Given the description of an element on the screen output the (x, y) to click on. 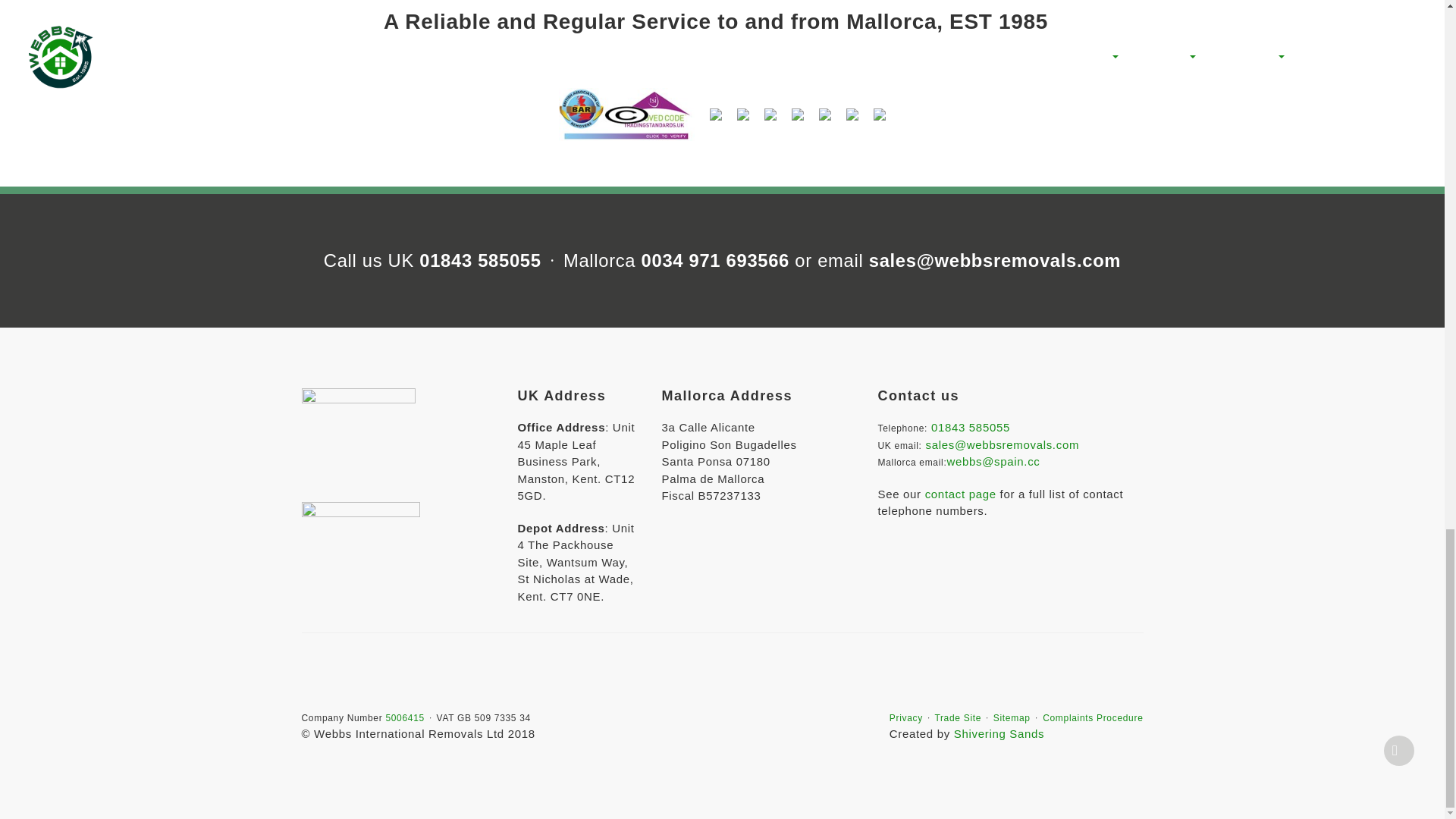
0034 971 693566 (715, 260)
Visit BAR (879, 113)
Webbs Local (797, 113)
01843 585055 (479, 260)
5006415 (404, 717)
Furniture Ombudsman (770, 113)
Visit BAR (715, 113)
Visit BAR (626, 114)
contact page (959, 493)
Visit our Trade Site (957, 717)
